Given the description of an element on the screen output the (x, y) to click on. 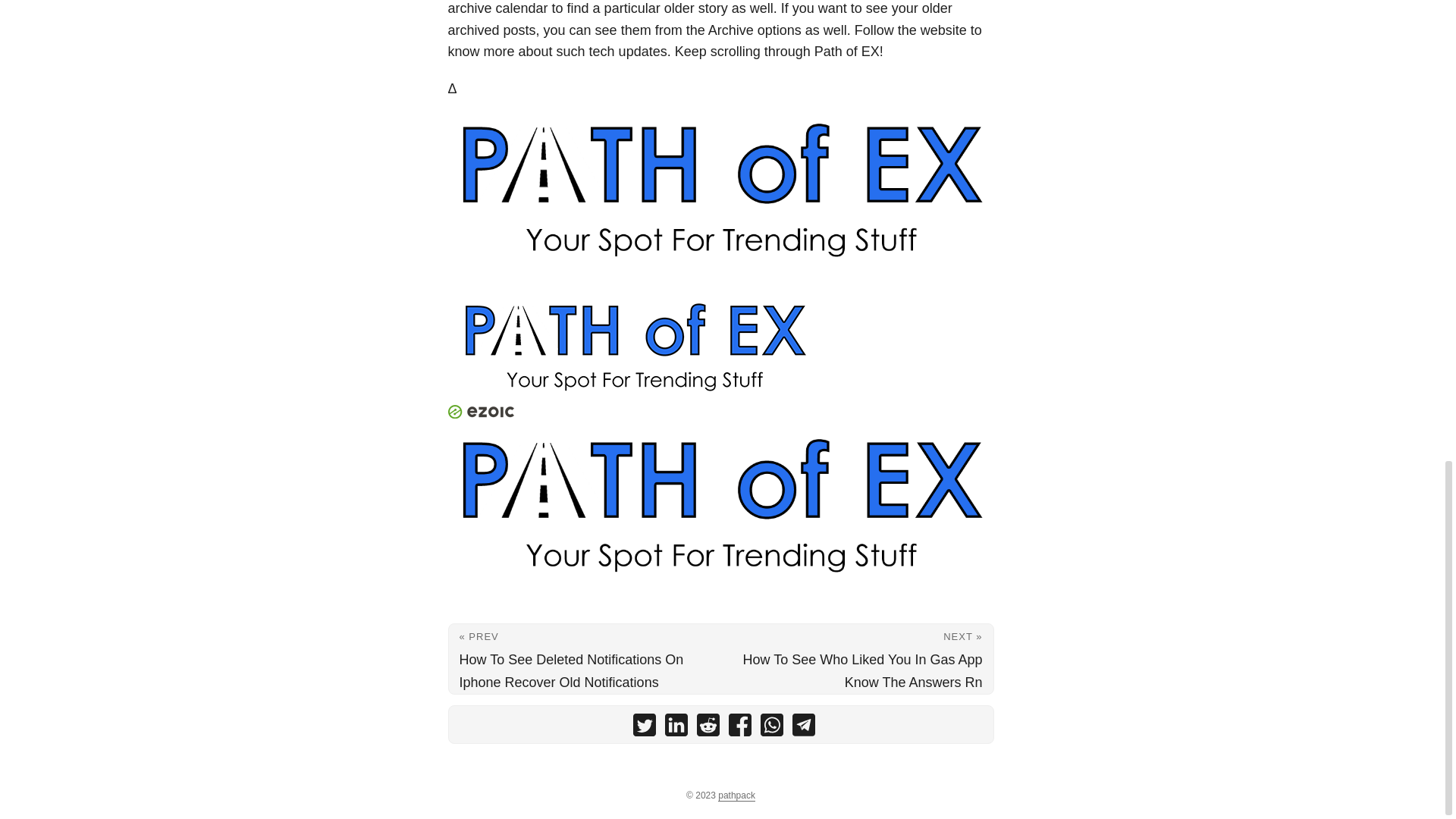
pathpack (736, 794)
